Given the description of an element on the screen output the (x, y) to click on. 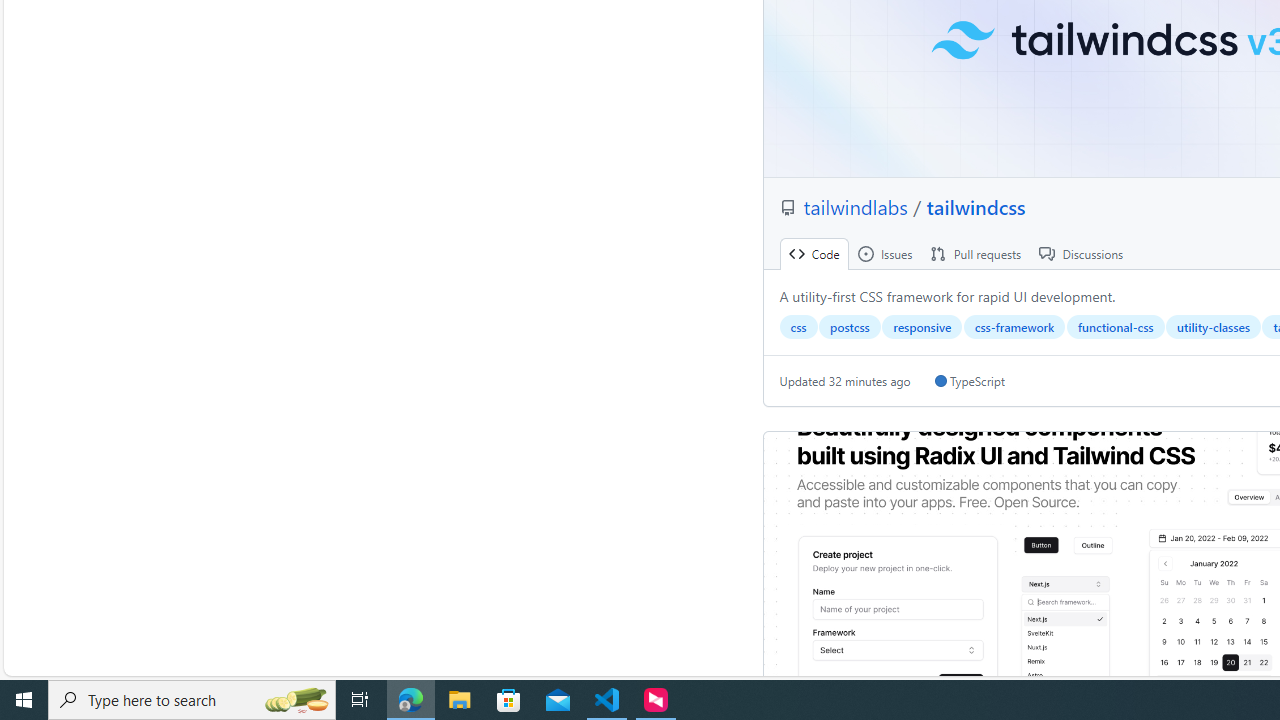
responsive (921, 327)
 Pull requests (975, 254)
postcss (849, 327)
 Issues (884, 254)
 Code (813, 254)
 Discussions (1081, 254)
TypeScript (969, 381)
css (798, 327)
tailwindlabs  (857, 206)
Updated 32 minutes ago (845, 381)
utility-classes (1213, 327)
css-framework (1014, 327)
 Discussions (1081, 254)
 Issues (884, 254)
tailwindcss (975, 206)
